Given the description of an element on the screen output the (x, y) to click on. 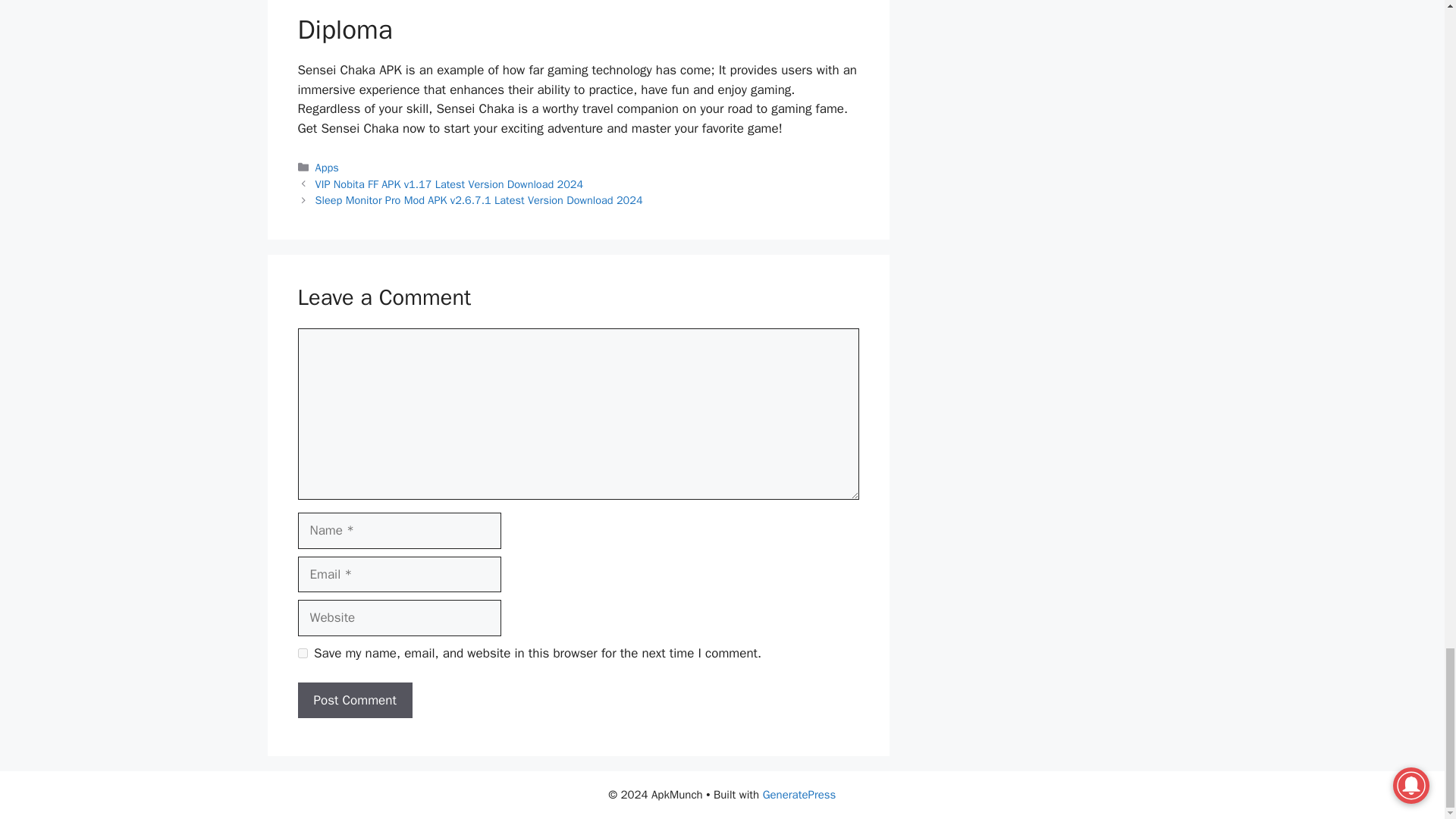
VIP Nobita FF APK v1.17 Latest Version Download 2024 (449, 183)
Apps (327, 167)
yes (302, 653)
Post Comment (354, 700)
Post Comment (354, 700)
